Given the description of an element on the screen output the (x, y) to click on. 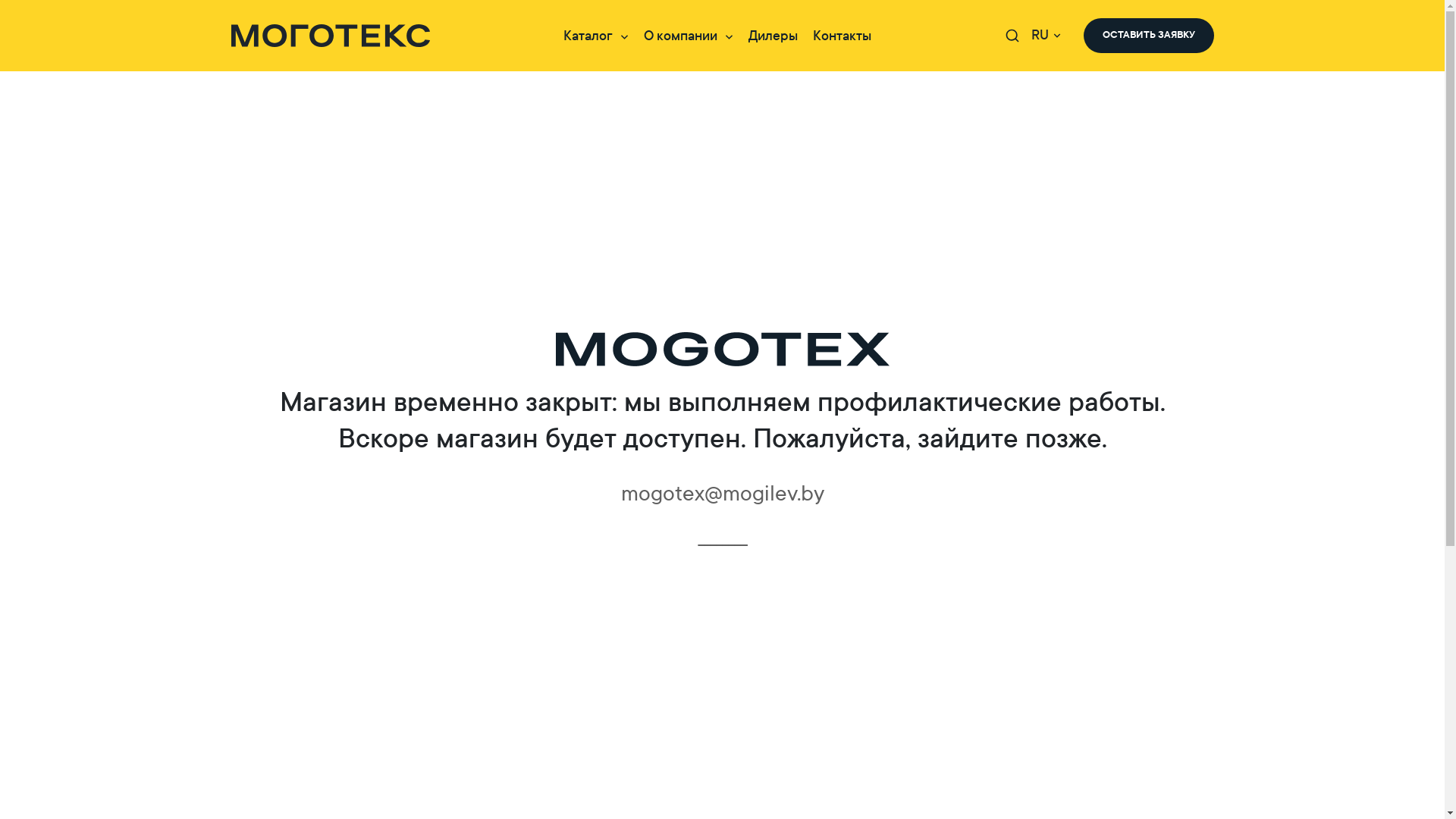
mogotex@mogilev.by Element type: text (721, 492)
________ Element type: text (721, 535)
